Given the description of an element on the screen output the (x, y) to click on. 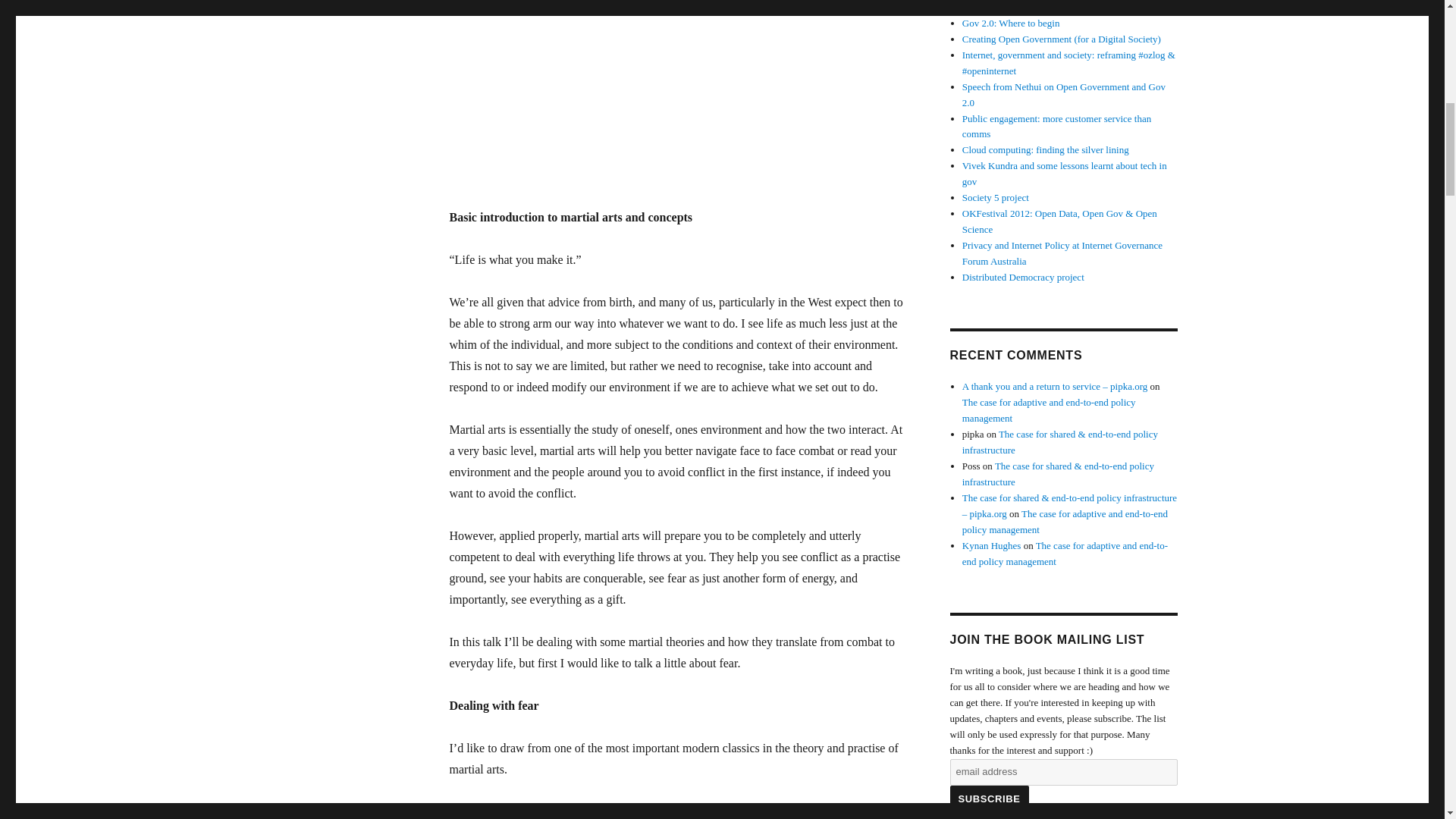
Subscribe (988, 798)
